Given the description of an element on the screen output the (x, y) to click on. 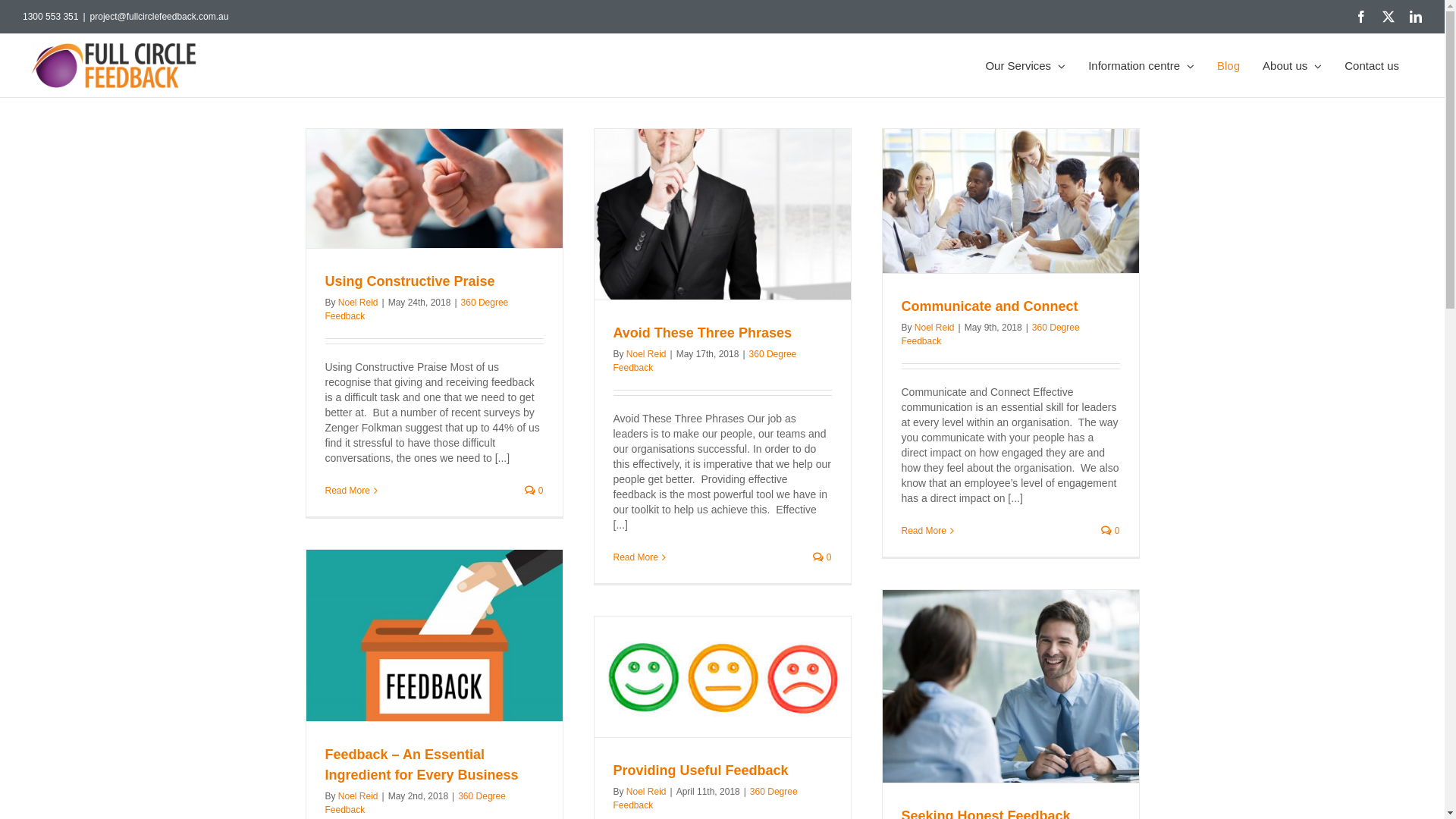
Using Constructive Praise Element type: text (409, 280)
Communicate and Connect Element type: text (988, 305)
Avoid These Three Phrases Element type: text (701, 332)
 0 Element type: text (1110, 530)
Noel Reid Element type: text (358, 795)
Noel Reid Element type: text (358, 302)
Noel Reid Element type: text (646, 791)
360 Degree Feedback Element type: text (416, 309)
project@fullcirclefeedback.com.au Element type: text (159, 16)
Blog Element type: text (1228, 65)
About us Element type: text (1291, 65)
Noel Reid Element type: text (646, 353)
Read More Element type: text (922, 530)
Information centre Element type: text (1141, 65)
Providing Useful Feedback Element type: text (699, 770)
360 Degree Feedback Element type: text (989, 334)
Noel Reid Element type: text (934, 327)
 0 Element type: text (821, 557)
360 Degree Feedback Element type: text (704, 360)
360 Degree Feedback Element type: text (704, 798)
Read More Element type: text (634, 557)
LinkedIn Element type: text (1415, 16)
360 Degree Feedback Element type: text (414, 802)
Facebook Element type: text (1361, 16)
 0 Element type: text (533, 490)
Twitter Element type: text (1388, 16)
Our Services Element type: text (1025, 65)
Read More Element type: text (346, 490)
Contact us Element type: text (1371, 65)
